Given the description of an element on the screen output the (x, y) to click on. 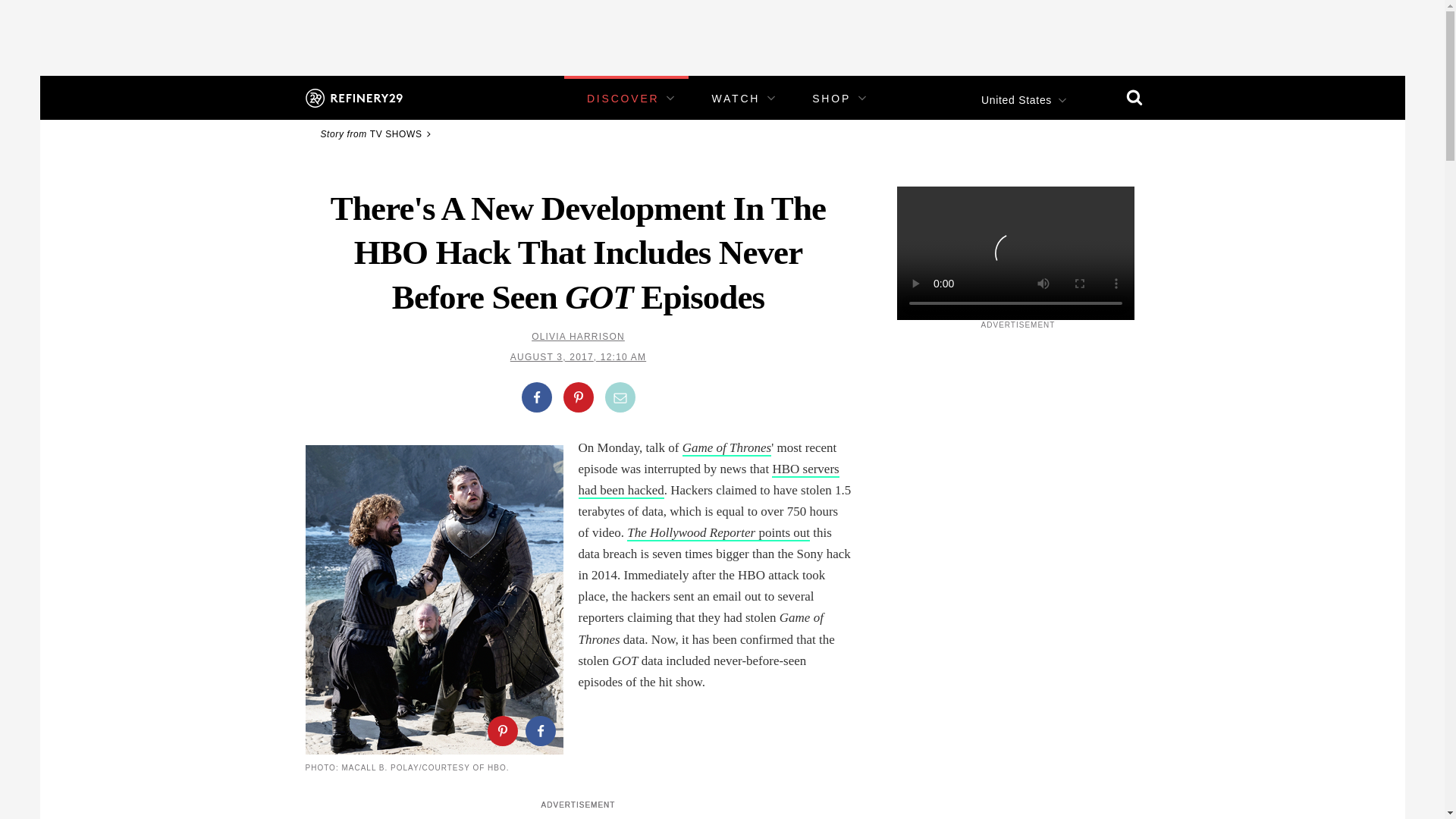
Game of Thrones (726, 448)
Story from TV SHOWS (377, 133)
The Hollywood Reporter points out (718, 533)
Share by Email (619, 397)
DISCOVER (622, 98)
Share on Facebook (536, 397)
HBO servers had been hacked (708, 479)
SHOP (831, 98)
WATCH (735, 98)
AUGUST 3, 2017, 12:10 AM (578, 357)
Share on Pinterest (501, 730)
Share on Pinterest (577, 397)
Share on Facebook (539, 730)
Refinery29 (352, 97)
